Given the description of an element on the screen output the (x, y) to click on. 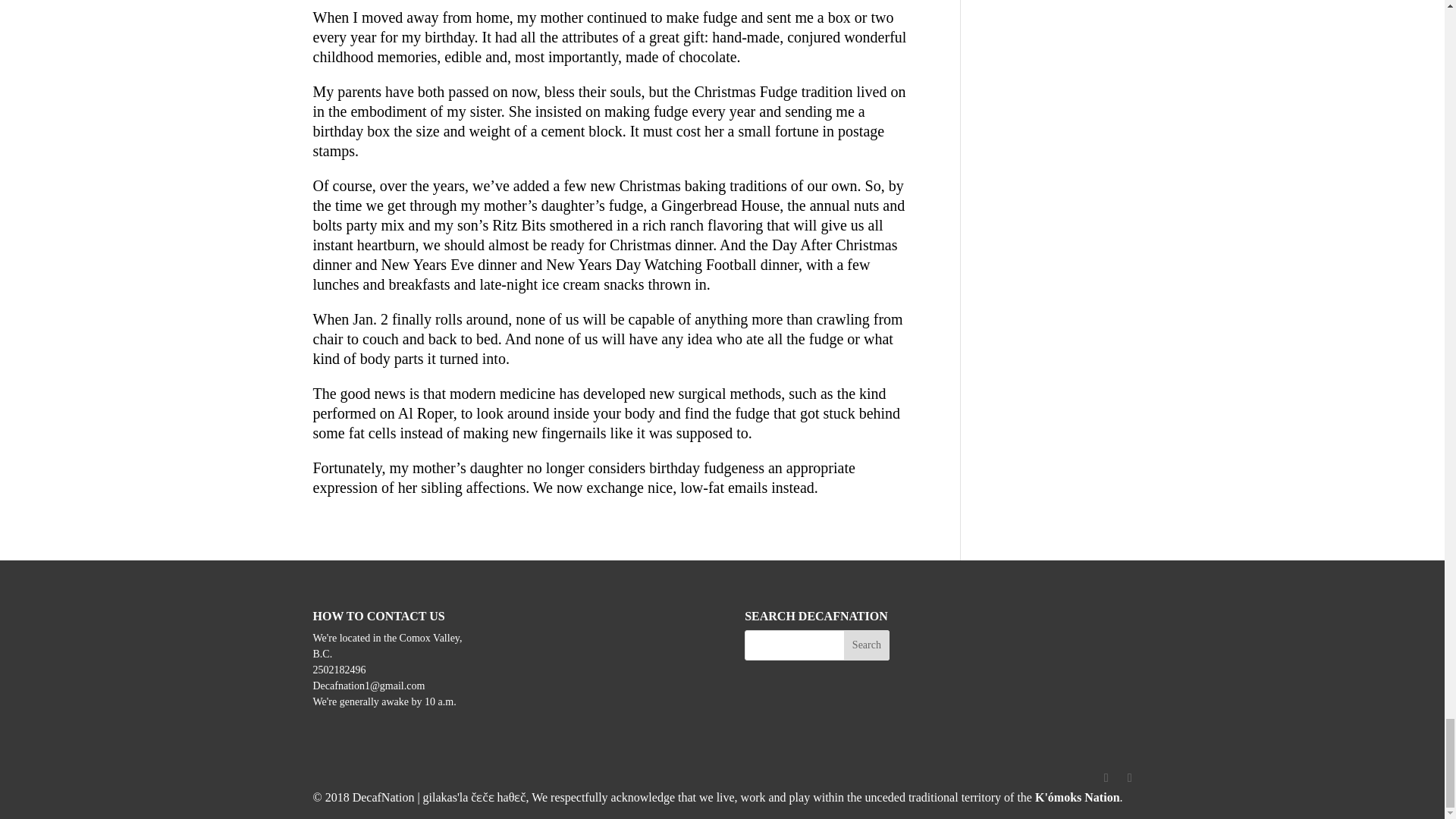
Search (866, 644)
